Given the description of an element on the screen output the (x, y) to click on. 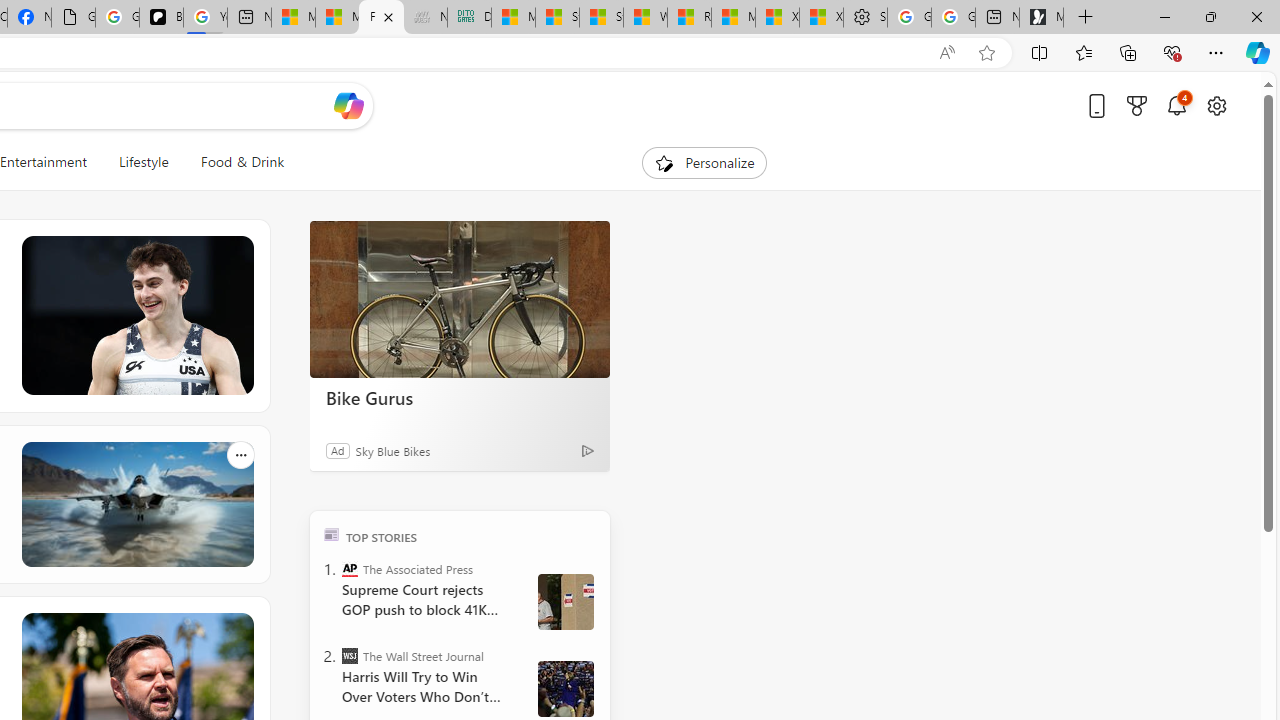
Food & Drink (234, 162)
If you are born before 1985, you have to play this game. (136, 504)
